Given the description of an element on the screen output the (x, y) to click on. 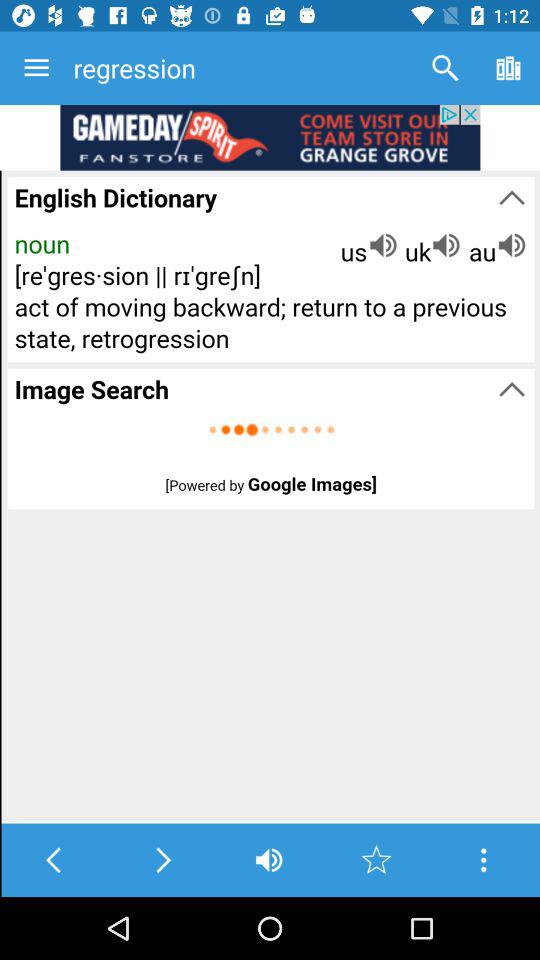
go to advertisement (270, 137)
